Given the description of an element on the screen output the (x, y) to click on. 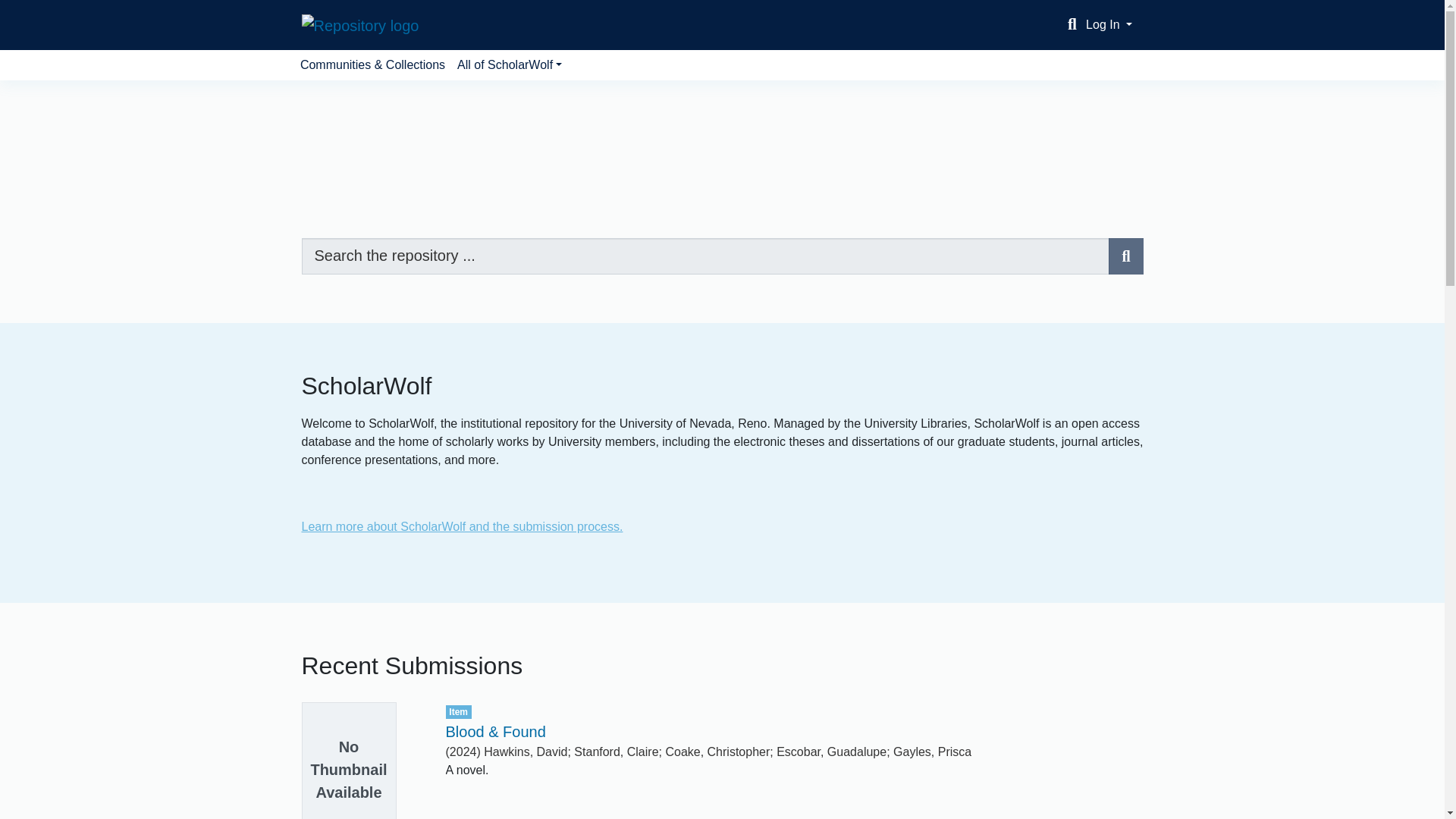
Search (1072, 24)
Log In (1108, 24)
All of ScholarWolf (509, 64)
No Thumbnail Available (362, 760)
Learn more about ScholarWolf and the submission process. (462, 526)
Search (1125, 256)
